Given the description of an element on the screen output the (x, y) to click on. 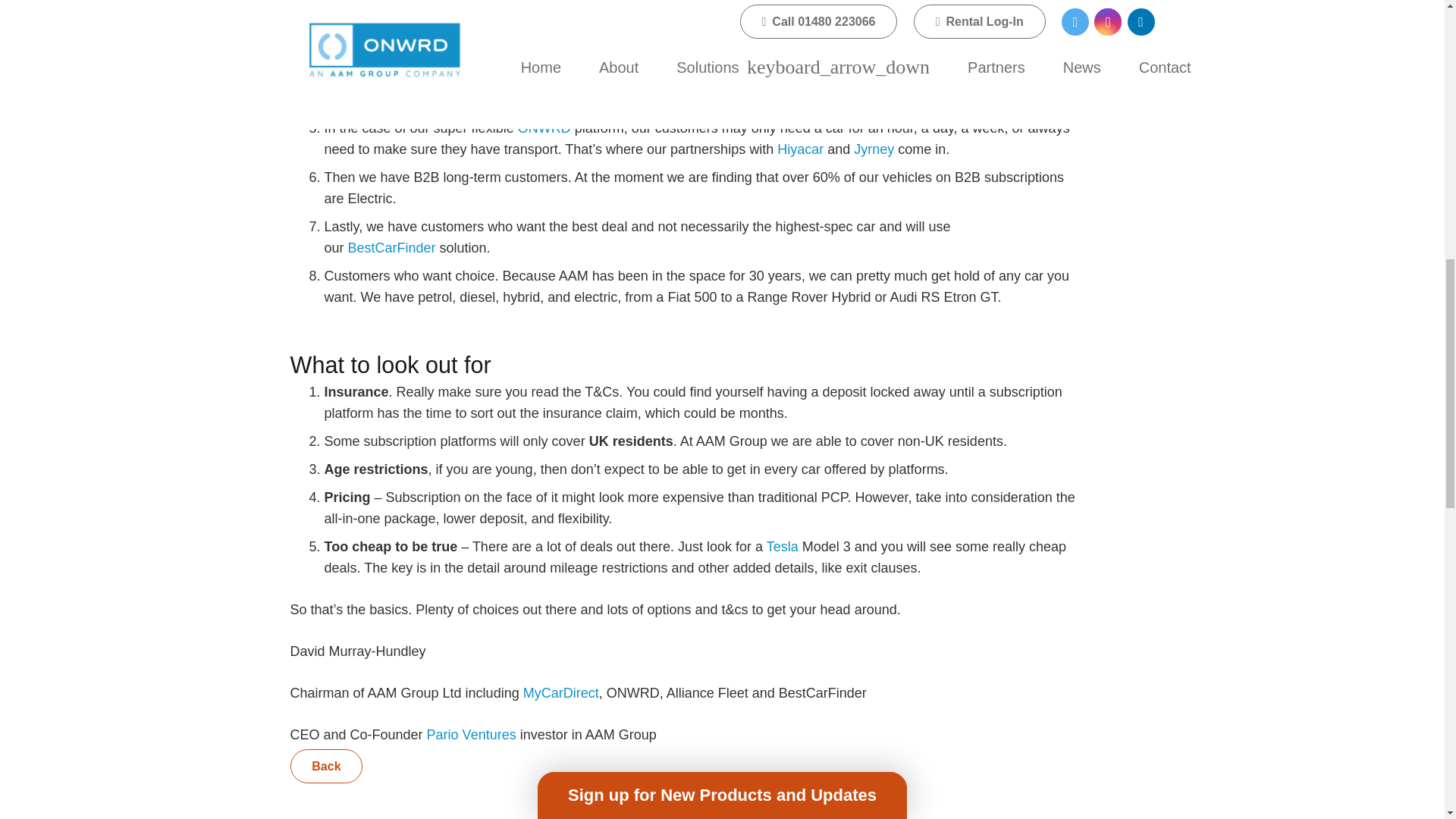
Pario Ventures (471, 734)
ONWRD (544, 127)
Back (325, 765)
Mycardirect (512, 15)
Jyrney (873, 149)
MyCarDirect (560, 693)
BestCarFinder (391, 247)
Hiyacar (800, 149)
Tesla (782, 546)
Back to top (1413, 37)
